Given the description of an element on the screen output the (x, y) to click on. 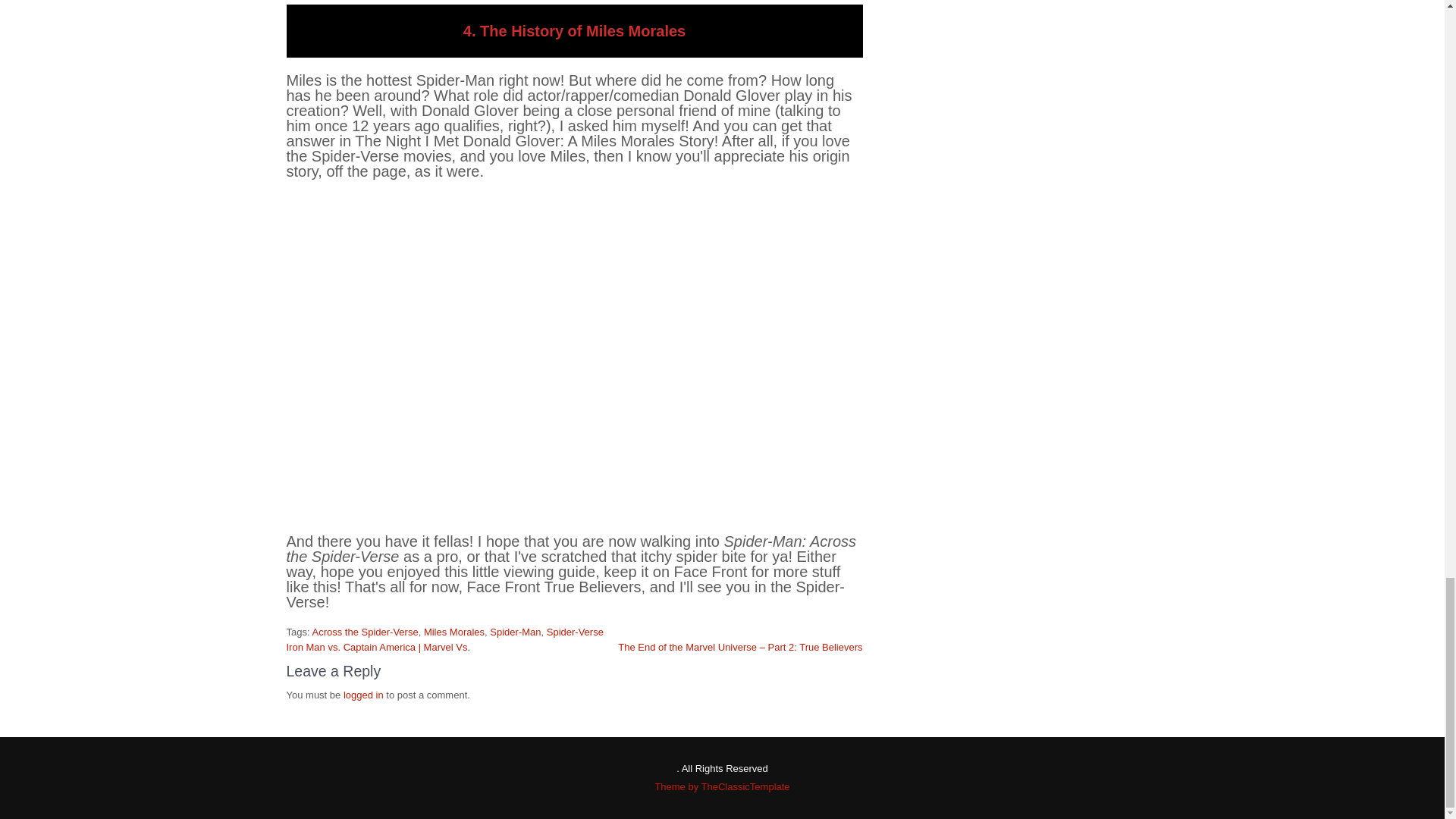
Spider-Verse (575, 632)
Spider-Man (514, 632)
Across the Spider-Verse (364, 632)
Miles Morales (453, 632)
